Given the description of an element on the screen output the (x, y) to click on. 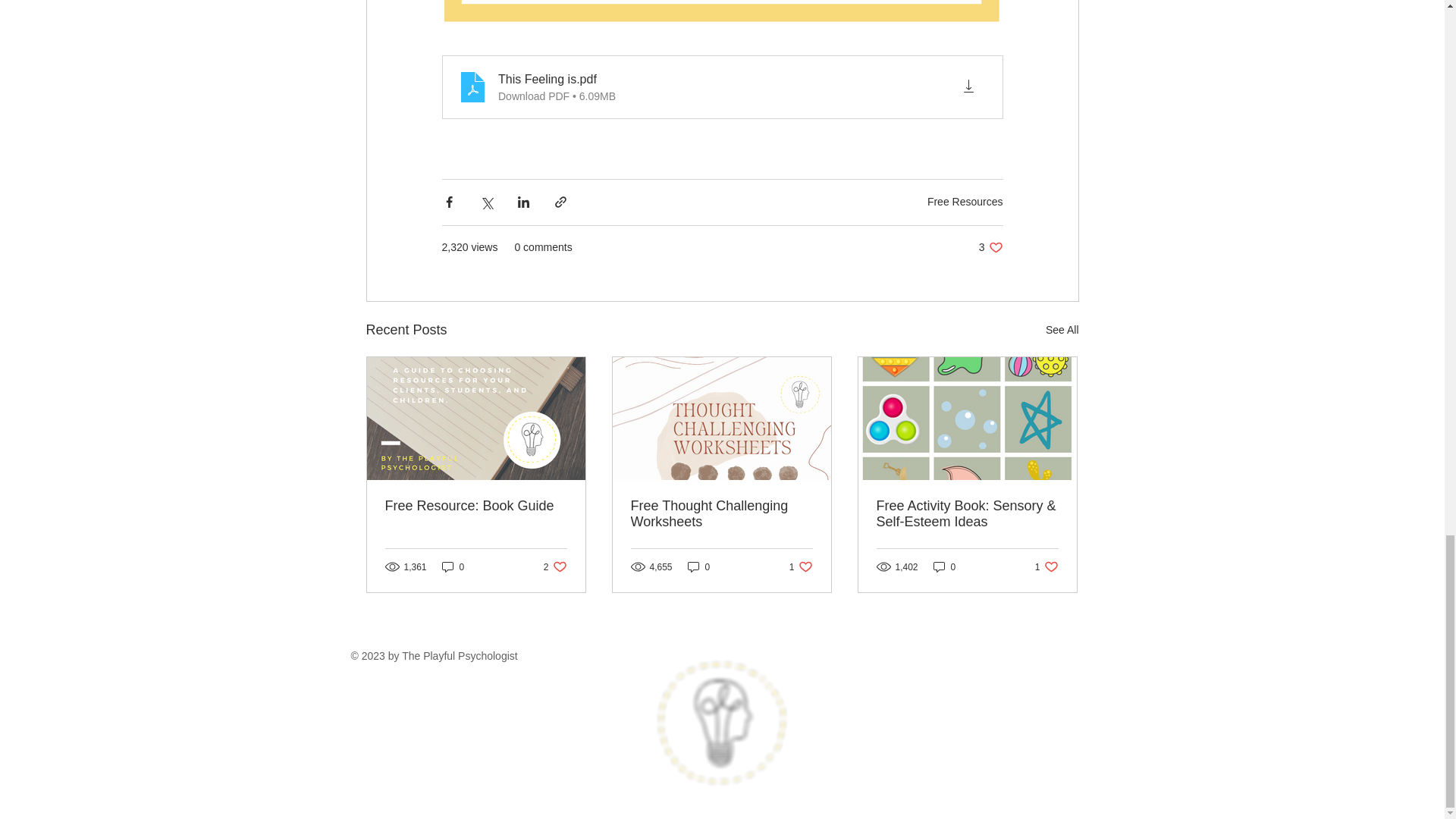
Free Thought Challenging Worksheets (800, 566)
See All (721, 513)
0 (1061, 330)
Free Resources (698, 566)
Free Resource: Book Guide (965, 201)
0 (476, 505)
